Given the description of an element on the screen output the (x, y) to click on. 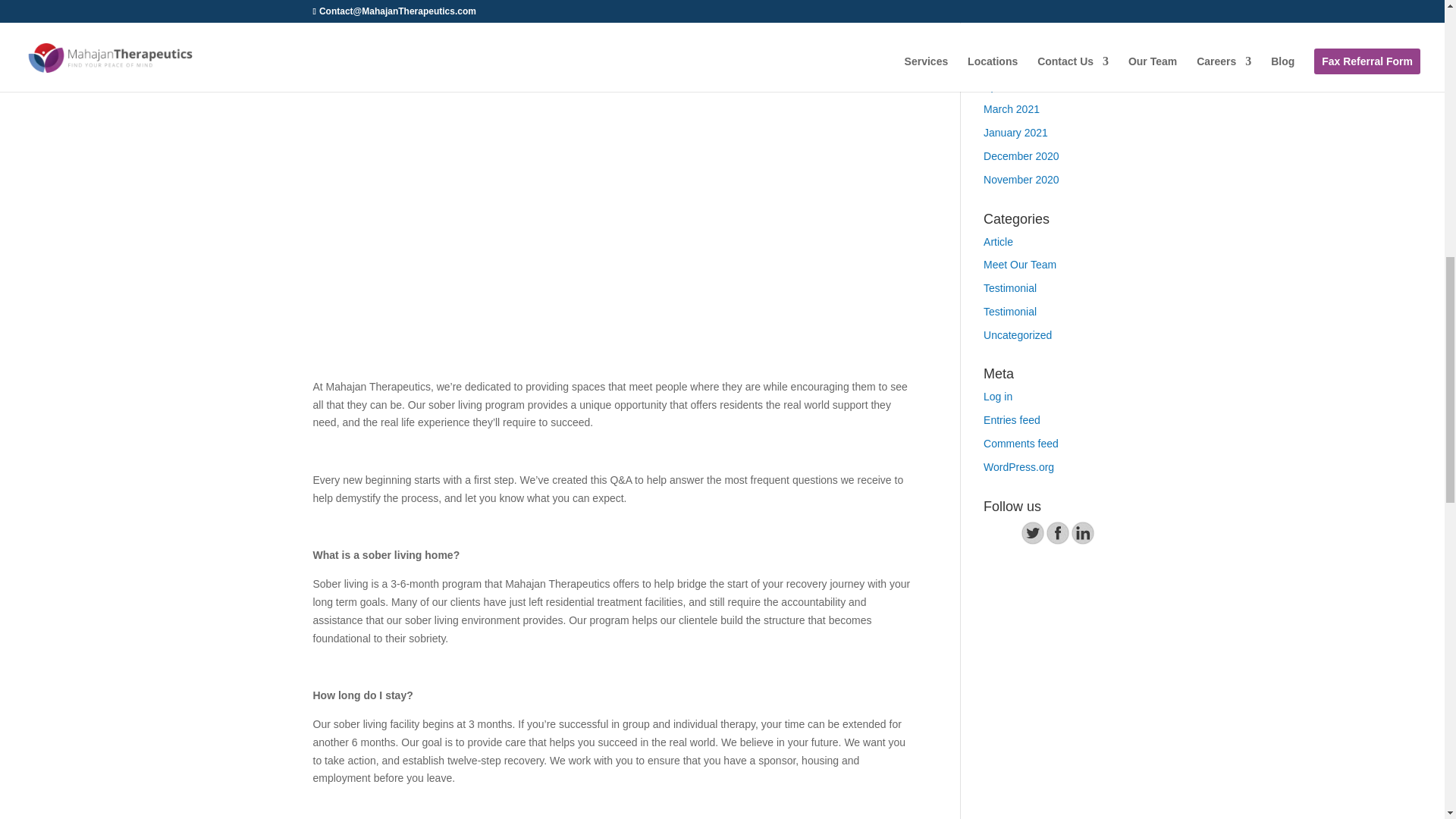
Visit Us On Facebook (1057, 541)
Visit Us On Twitter (1032, 541)
Visit Us On Linkedin (1082, 541)
